Given the description of an element on the screen output the (x, y) to click on. 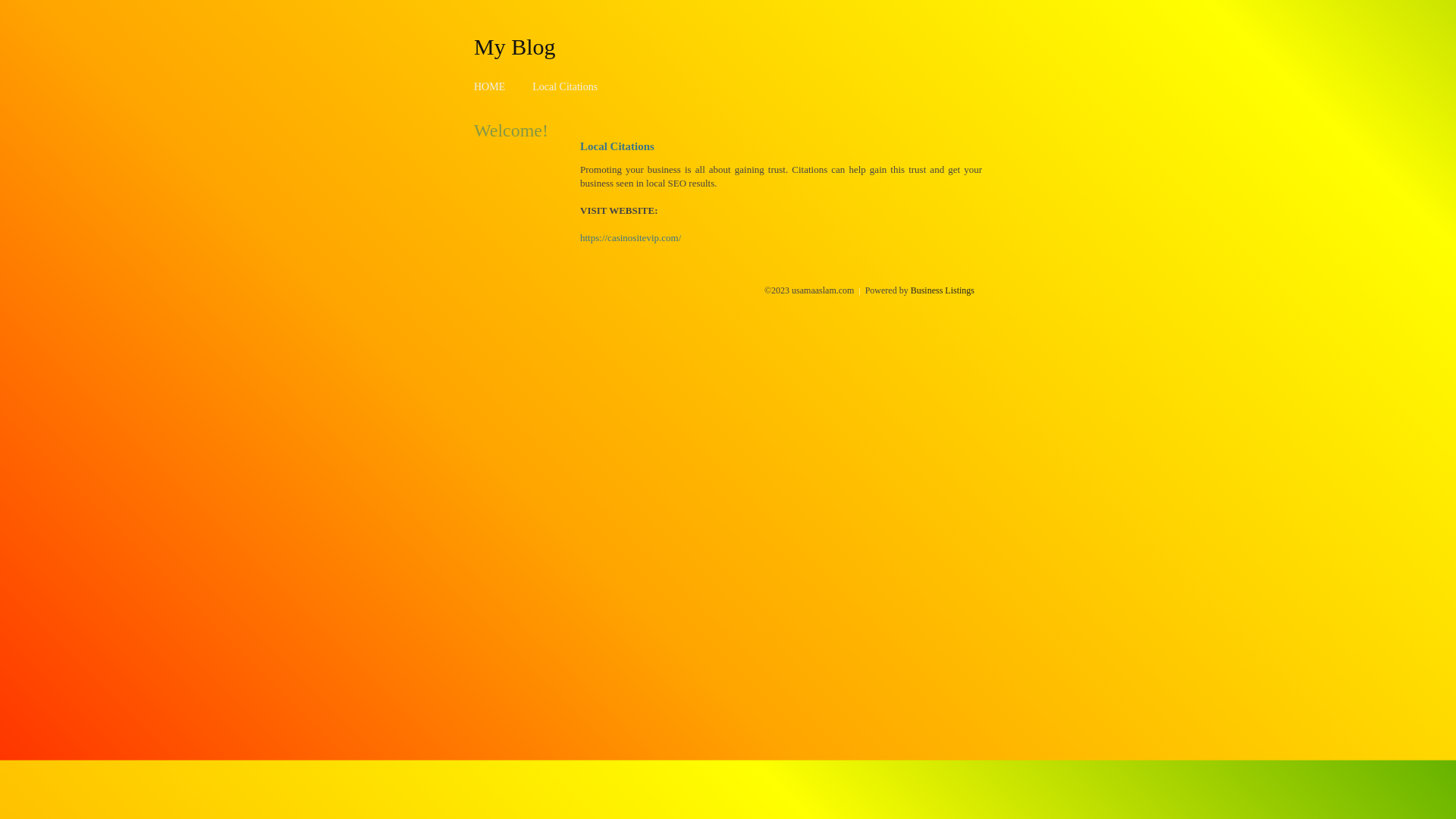
https://casinositevip.com/ Element type: text (630, 237)
My Blog Element type: text (514, 46)
Local Citations Element type: text (564, 86)
HOME Element type: text (489, 86)
Business Listings Element type: text (942, 290)
